Given the description of an element on the screen output the (x, y) to click on. 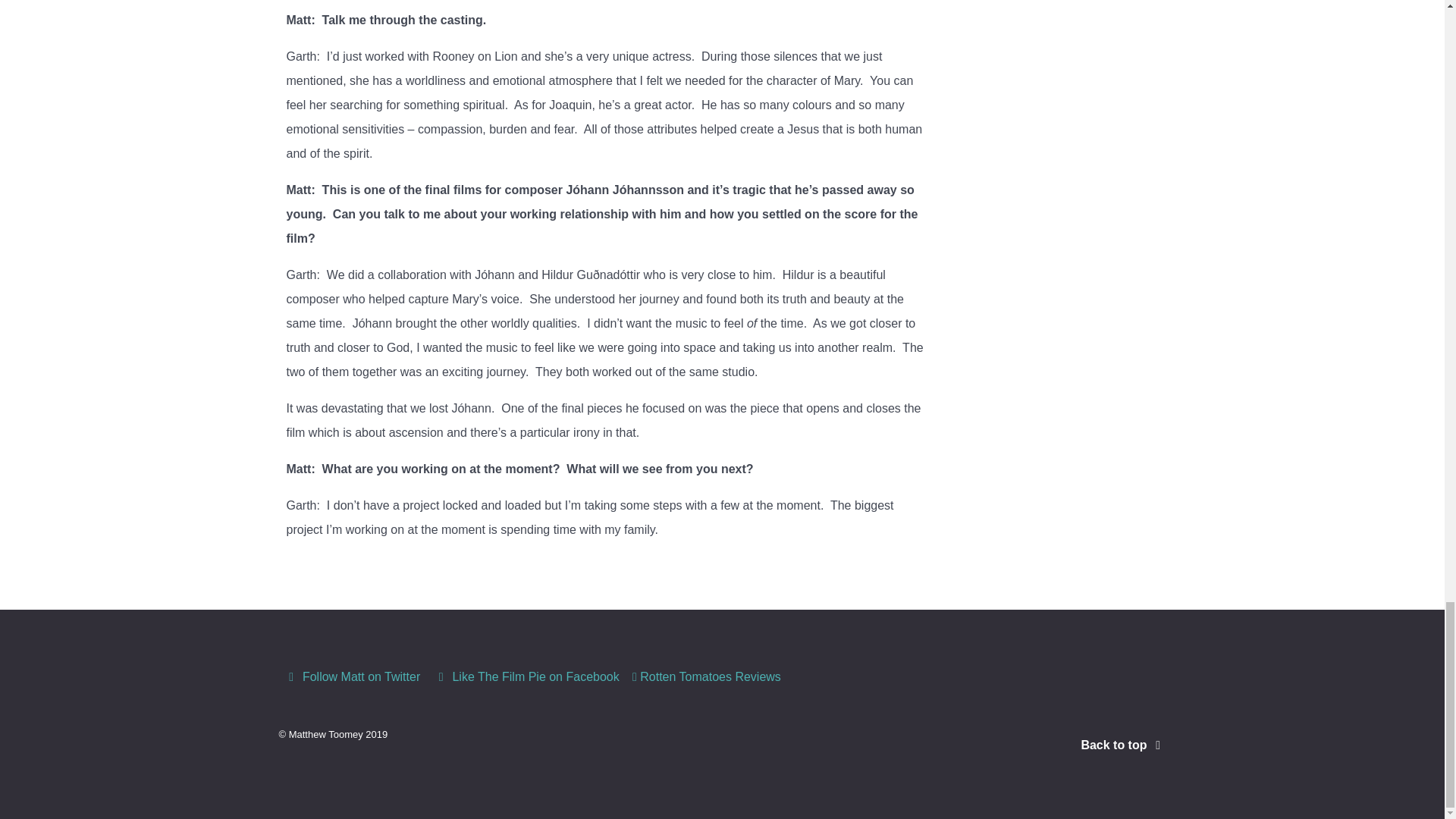
Like The Film Pie on Facebook (527, 676)
Back to top (1123, 744)
Rotten Tomatoes Reviews (706, 676)
Follow Matt on Twitter (354, 676)
Like The Film Pie on Facebook (527, 676)
Follow Matt on Twitter (354, 676)
Rotten Tomatoes Reviews (706, 676)
